Given the description of an element on the screen output the (x, y) to click on. 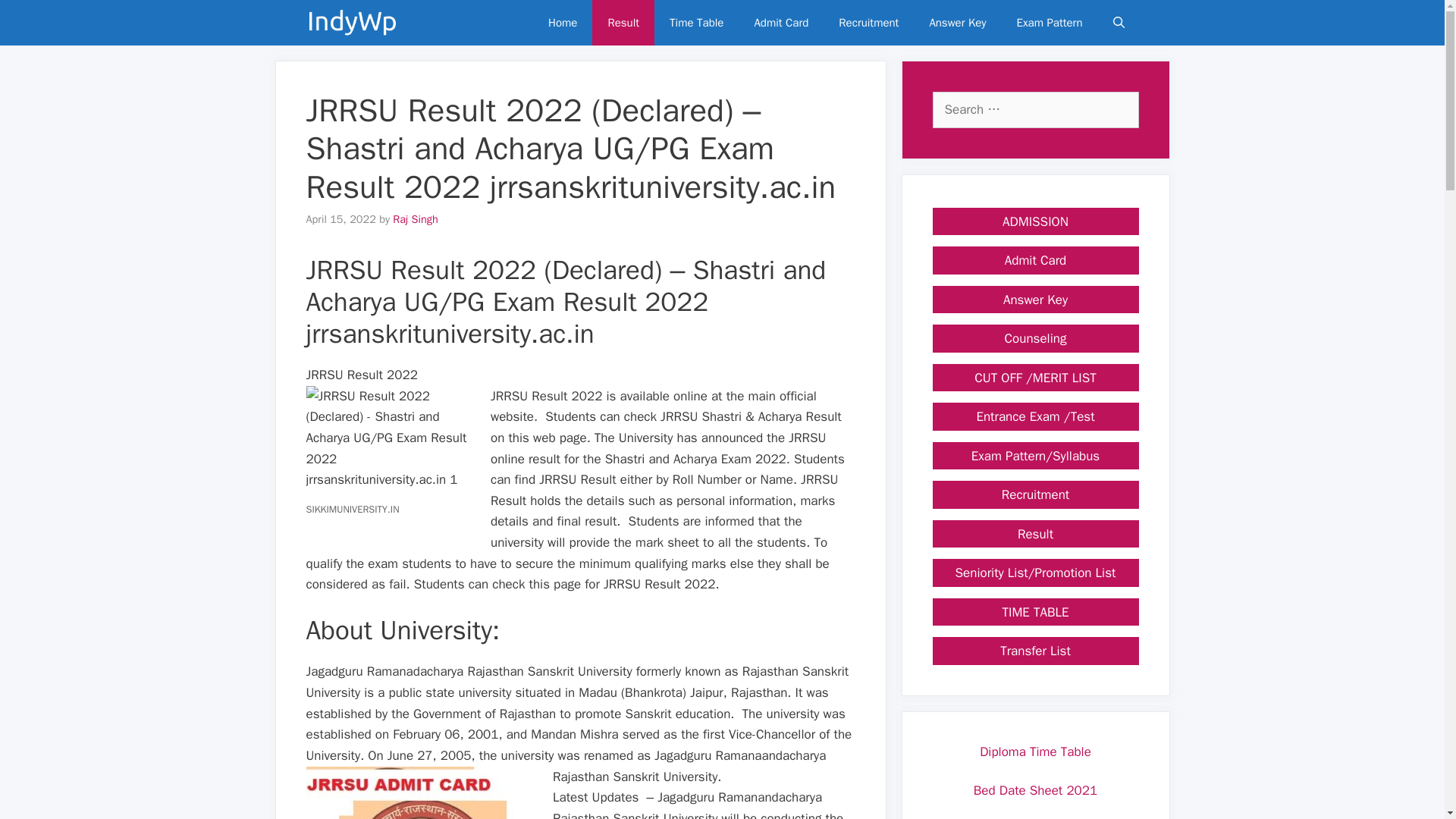
View all posts by Raj Singh (415, 219)
Search for: (1035, 109)
Admit Card (781, 22)
University Exam Results, Time Table, Admit Card 2022 (355, 22)
Recruitment (869, 22)
Home (562, 22)
Answer Key (957, 22)
Raj Singh (415, 219)
Exam Pattern (1049, 22)
Time Table (695, 22)
